Given the description of an element on the screen output the (x, y) to click on. 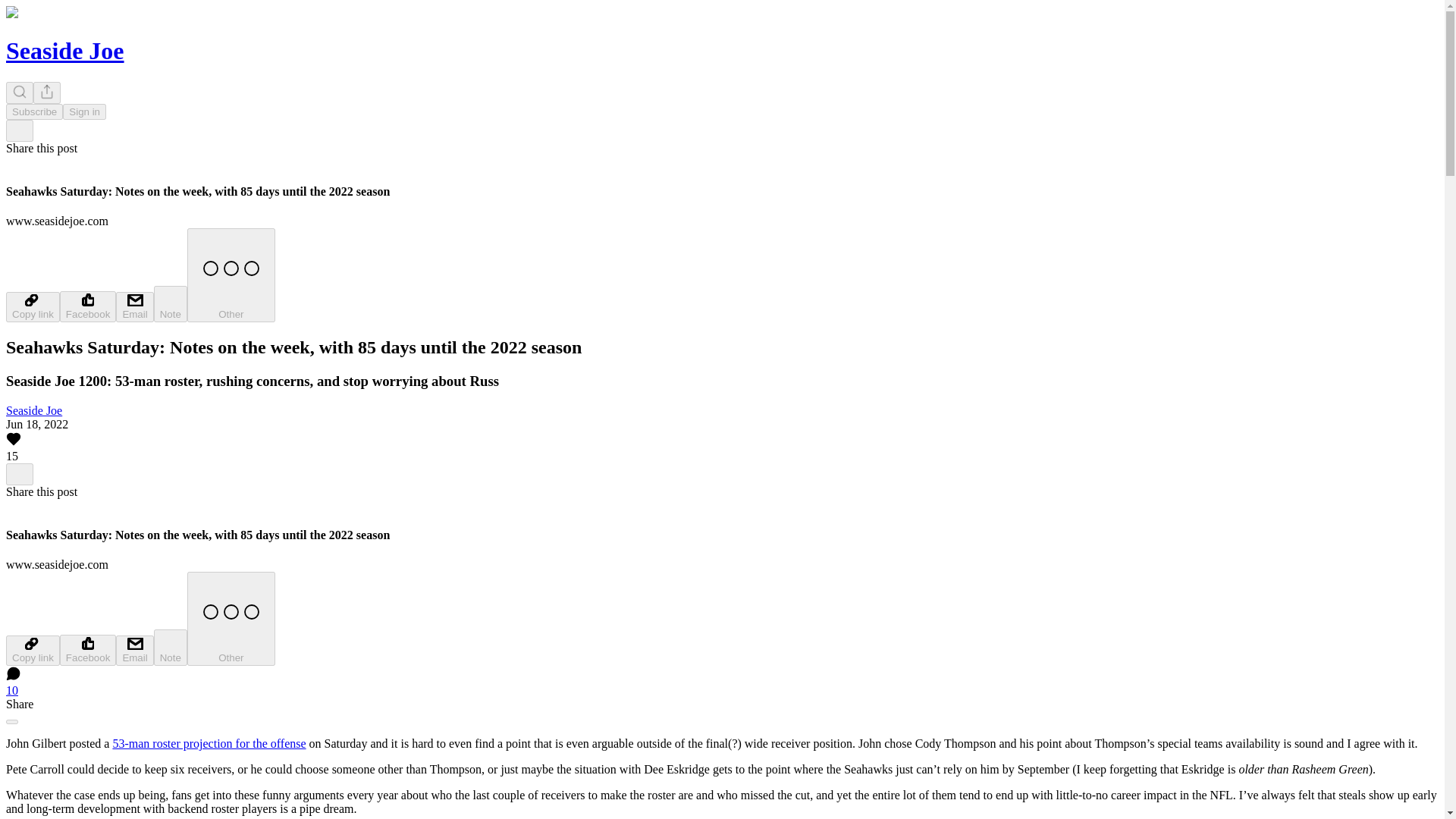
Email (134, 306)
Seaside Joe (64, 50)
Note (170, 303)
Copy link (32, 306)
Sign in (84, 111)
Facebook (87, 649)
Note (170, 647)
Subscribe (33, 111)
Facebook (87, 306)
Email (134, 650)
